Given the description of an element on the screen output the (x, y) to click on. 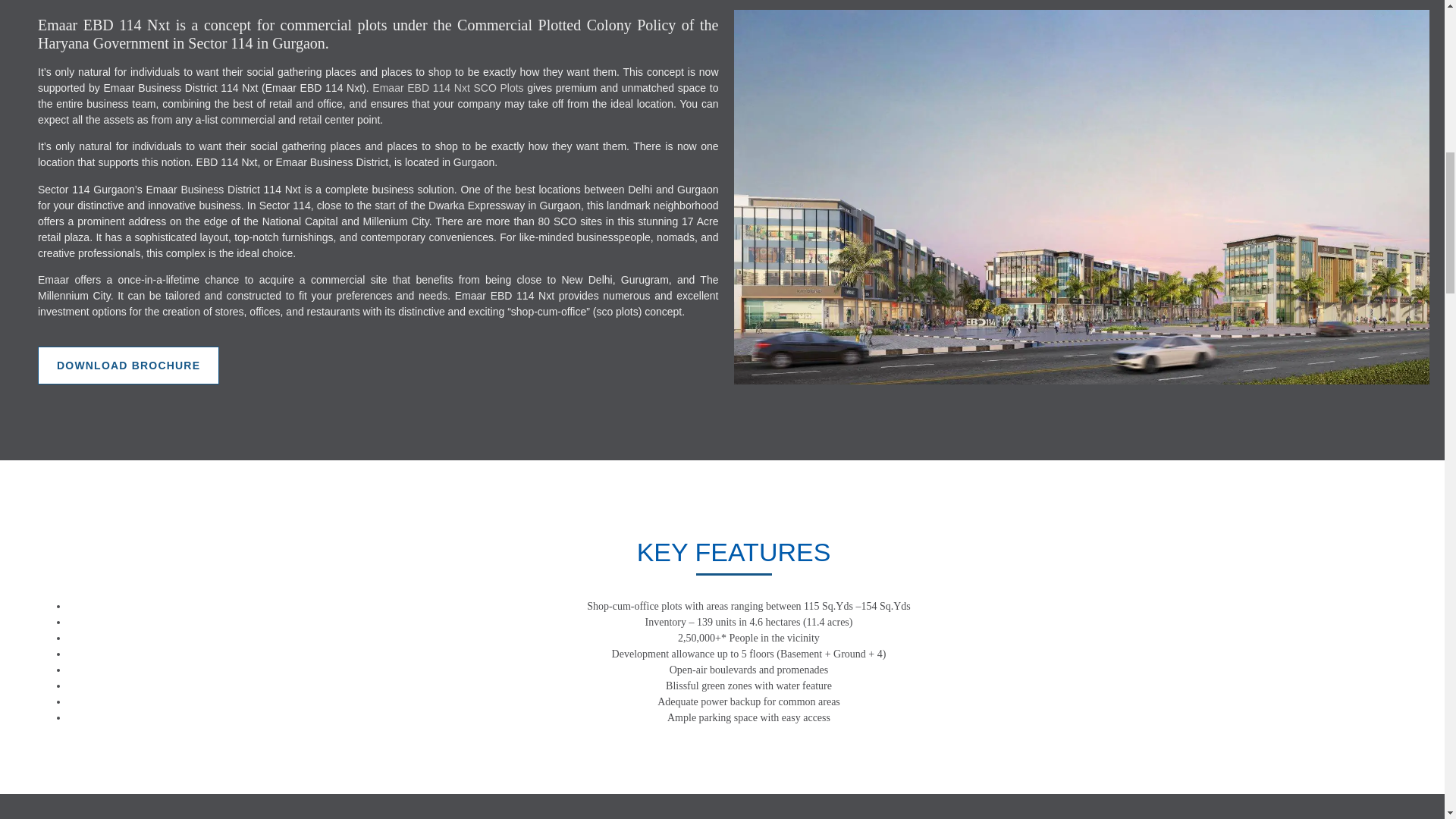
DOWNLOAD BROCHURE (128, 365)
Emaar EBD 114 Nxt SCO Plots (447, 87)
Emaar EBD 114 Nxt SCO Plots (447, 87)
